Given the description of an element on the screen output the (x, y) to click on. 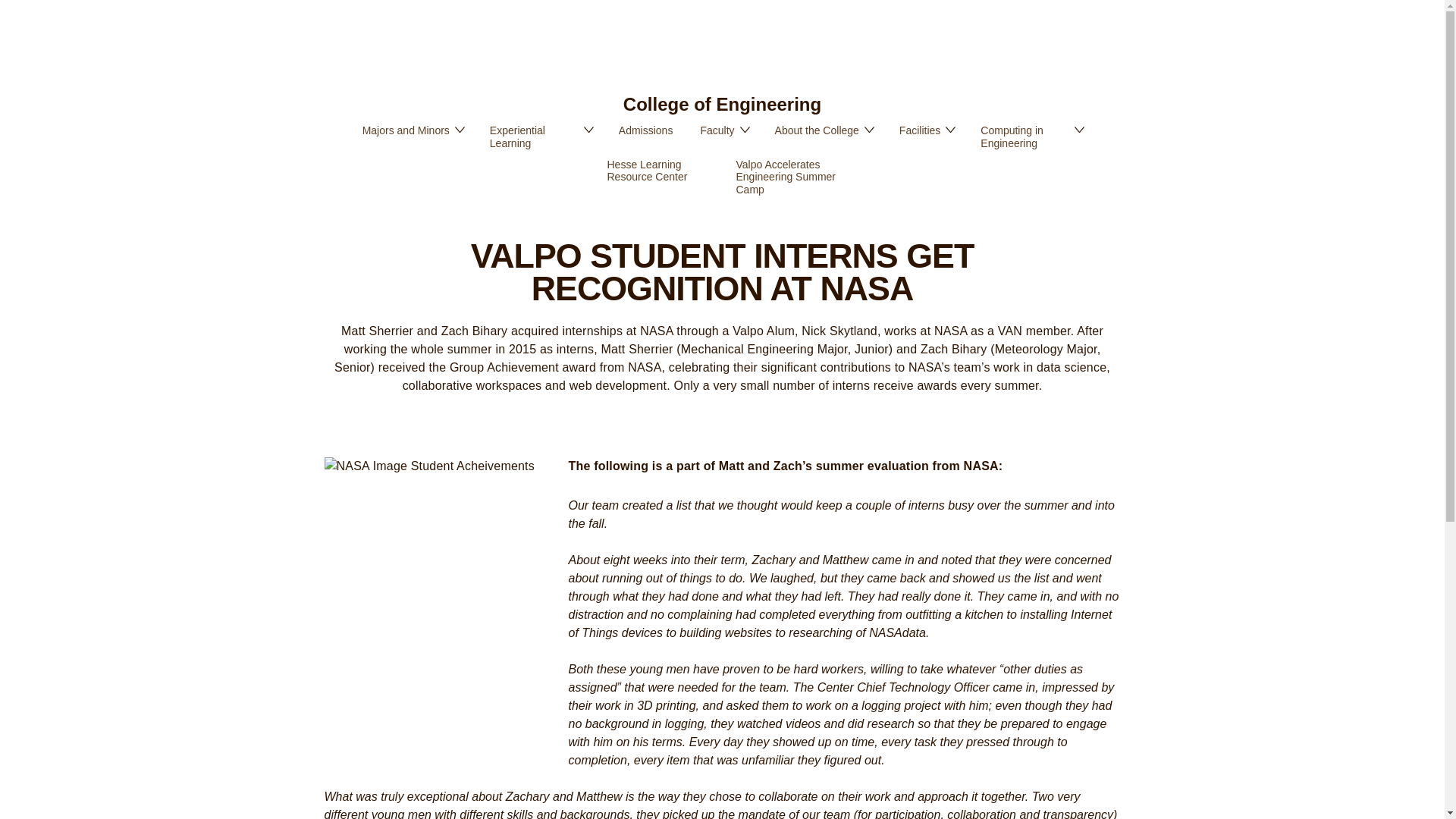
College of Engineering (722, 104)
Experiential Learning (539, 138)
Majors and Minors (412, 131)
